Given the description of an element on the screen output the (x, y) to click on. 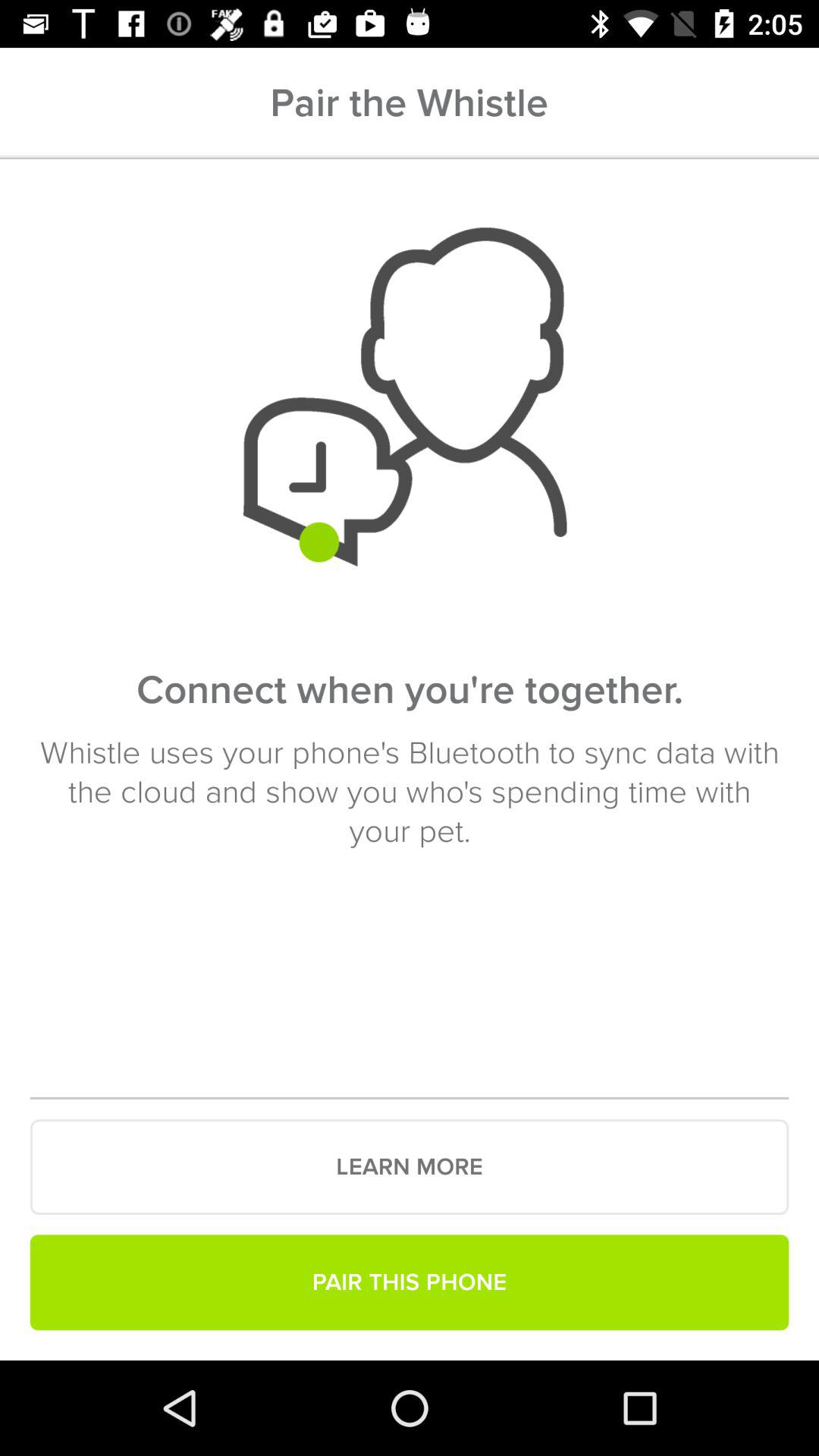
scroll until pair this phone (409, 1282)
